Given the description of an element on the screen output the (x, y) to click on. 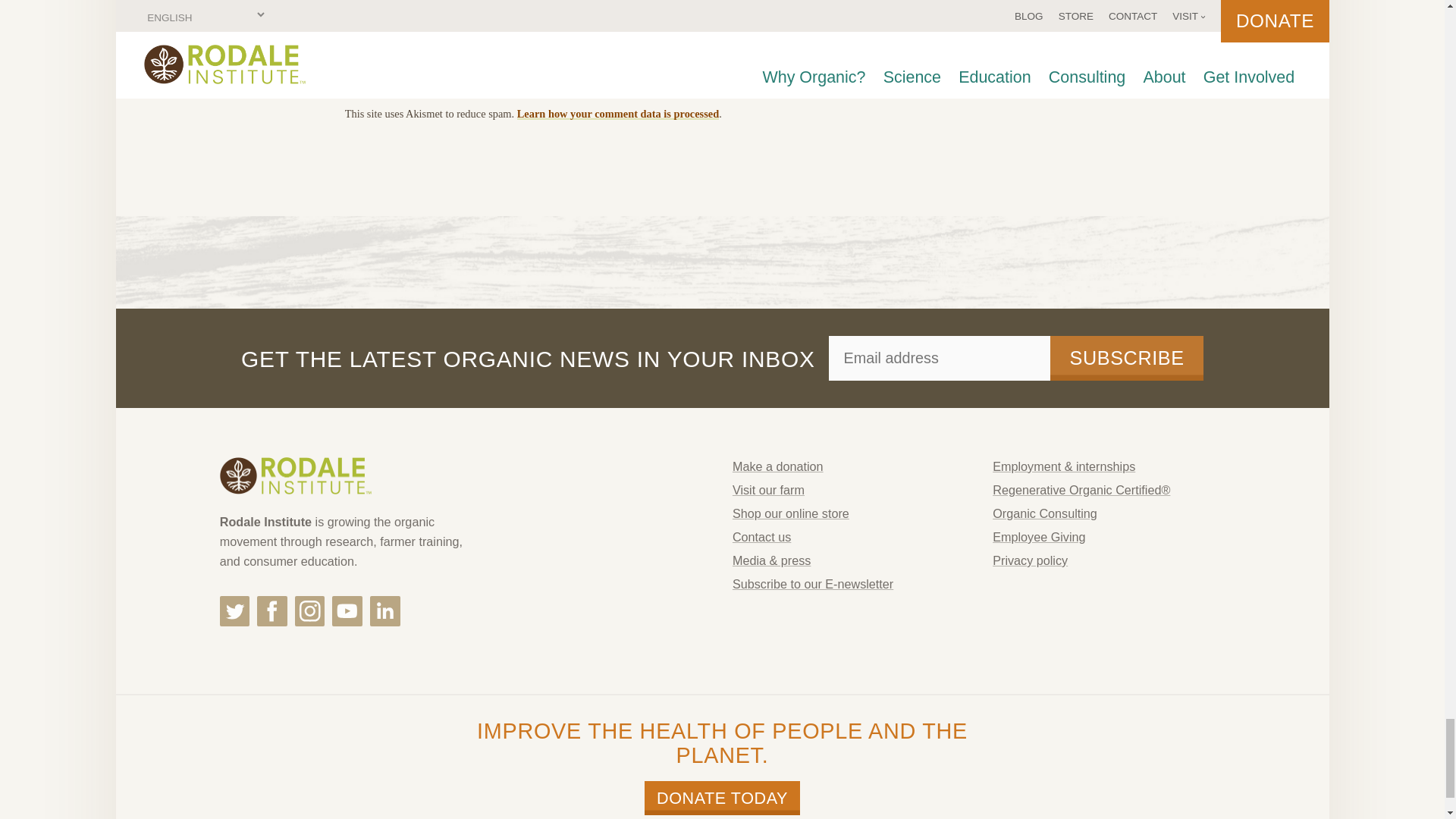
Visit Rodale's twitter page (234, 611)
Visit Rodale's instagram page (309, 611)
Visit Rodale's facebook page (271, 611)
Visit Rodale's youtube page (346, 611)
Subscribe (1126, 357)
Visit Rodale's Linked In page (384, 611)
